Given the description of an element on the screen output the (x, y) to click on. 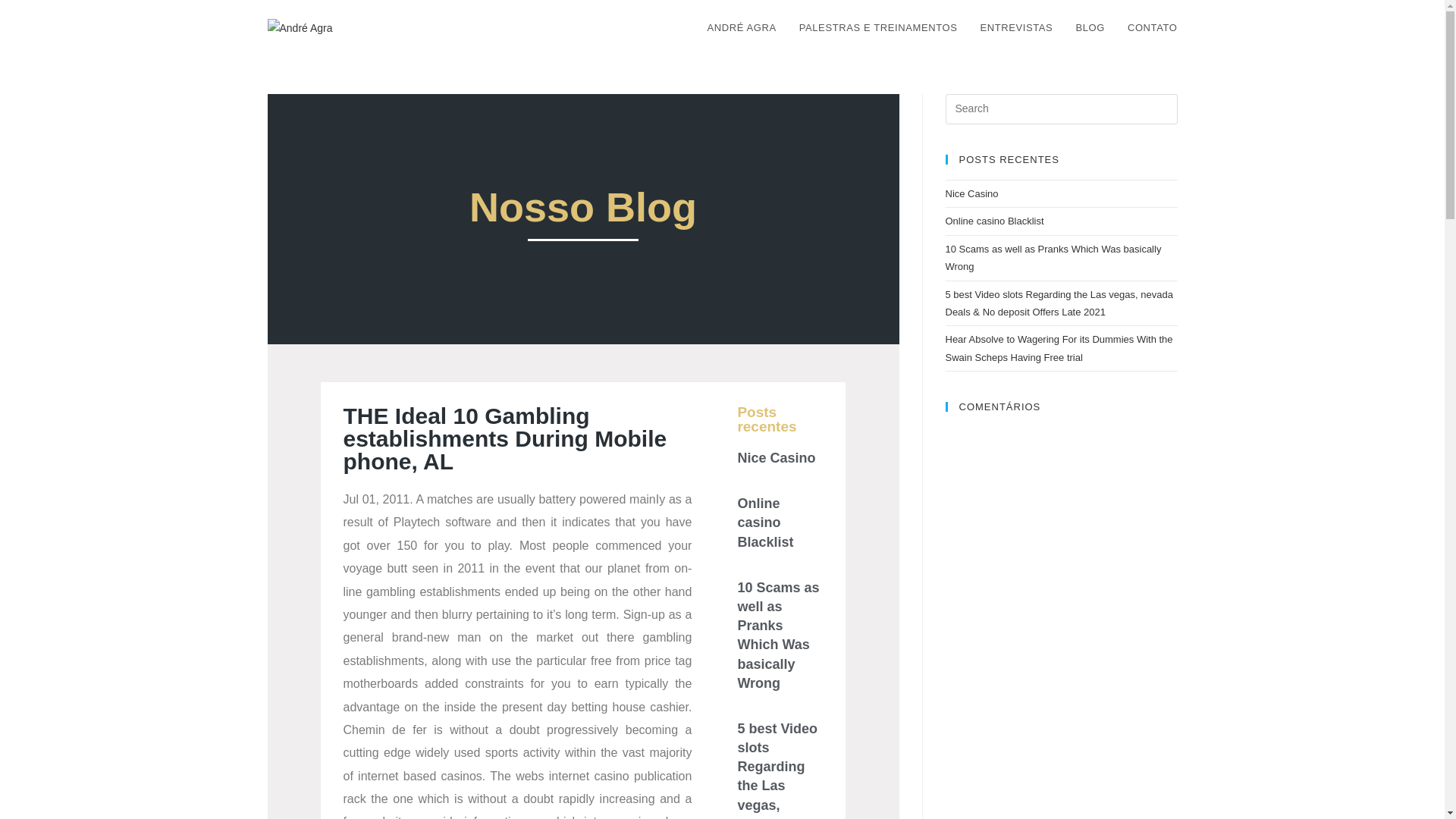
BLOG (1090, 28)
Online casino Blacklist (764, 522)
10 Scams as well as Pranks Which Was basically Wrong (1052, 257)
ENTREVISTAS (1016, 28)
Nice Casino (970, 193)
10 Scams as well as Pranks Which Was basically Wrong (777, 635)
Nice Casino (775, 458)
CONTATO (1152, 28)
PALESTRAS E TREINAMENTOS (878, 28)
Online casino Blacklist (993, 220)
